Given the description of an element on the screen output the (x, y) to click on. 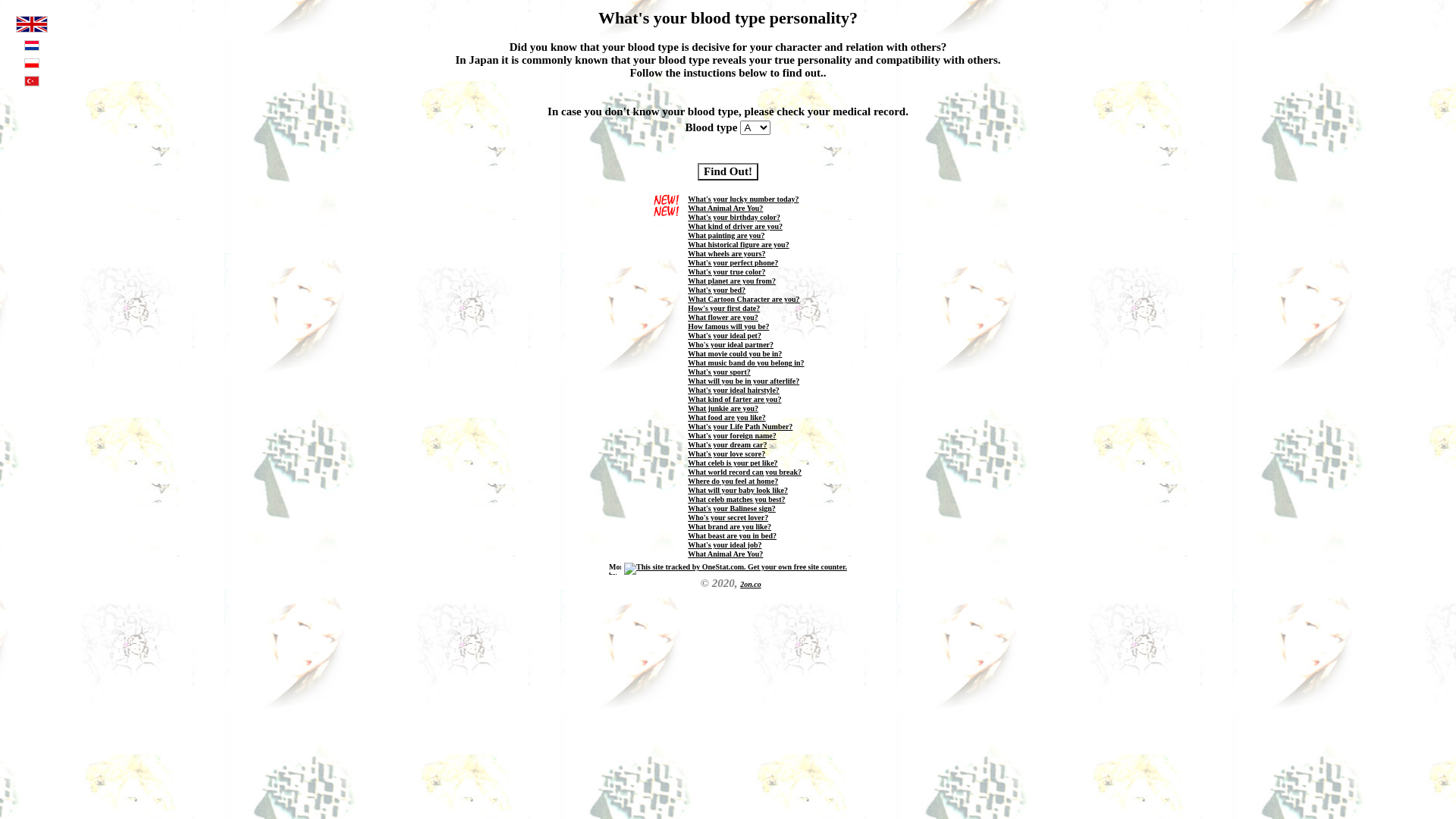
What movie could you be in? Element type: text (734, 353)
What Cartoon Character are you? Element type: text (743, 298)
What's your ideal pet? Element type: text (724, 335)
What's your Life Path Number? Element type: text (739, 426)
What kind of driver are you? Element type: text (734, 226)
What's your bed? Element type: text (716, 289)
How famous will you be? Element type: text (727, 326)
What's your perfect phone? Element type: text (732, 262)
Where do you feel at home? Element type: text (732, 480)
What's your dream car? Element type: text (726, 444)
What's your birthday color? Element type: text (733, 217)
What kind of farter are you? Element type: text (734, 399)
What celeb matches you best? Element type: text (735, 499)
What food are you like? Element type: text (726, 417)
What's your foreign name? Element type: text (731, 435)
How's your first date? Element type: text (723, 308)
What's your lucky number today? Element type: text (742, 198)
What historical figure are you? Element type: text (738, 244)
What's your ideal job? Element type: text (724, 544)
What's your ideal hairstyle? Element type: text (733, 389)
What will your baby look like? Element type: text (737, 490)
English Element type: hover (31, 29)
What brand are you like? Element type: text (729, 526)
What will you be in your afterlife? Element type: text (743, 380)
What music band do you belong in? Element type: text (745, 362)
What junkie are you? Element type: text (722, 408)
What celeb is your pet like? Element type: text (732, 462)
What painting are you? Element type: text (725, 235)
What's your true color? Element type: text (726, 271)
Who's your ideal partner? Element type: text (730, 344)
What beast are you in bed? Element type: text (731, 535)
What planet are you from? Element type: text (731, 280)
Find Out! Element type: text (727, 171)
What Animal Are You? Element type: text (724, 553)
What's your sport? Element type: text (718, 371)
What's your love score? Element type: text (726, 453)
Polski Element type: hover (31, 65)
2on.co Element type: text (750, 584)
What wheels are yours? Element type: text (726, 253)
What flower are you? Element type: text (722, 317)
What Animal Are You? Element type: text (724, 207)
Nederland Element type: hover (31, 47)
What world record can you break? Element type: text (744, 471)
What's your Balinese sign? Element type: text (731, 508)
Who's your secret lover? Element type: text (727, 517)
